Given the description of an element on the screen output the (x, y) to click on. 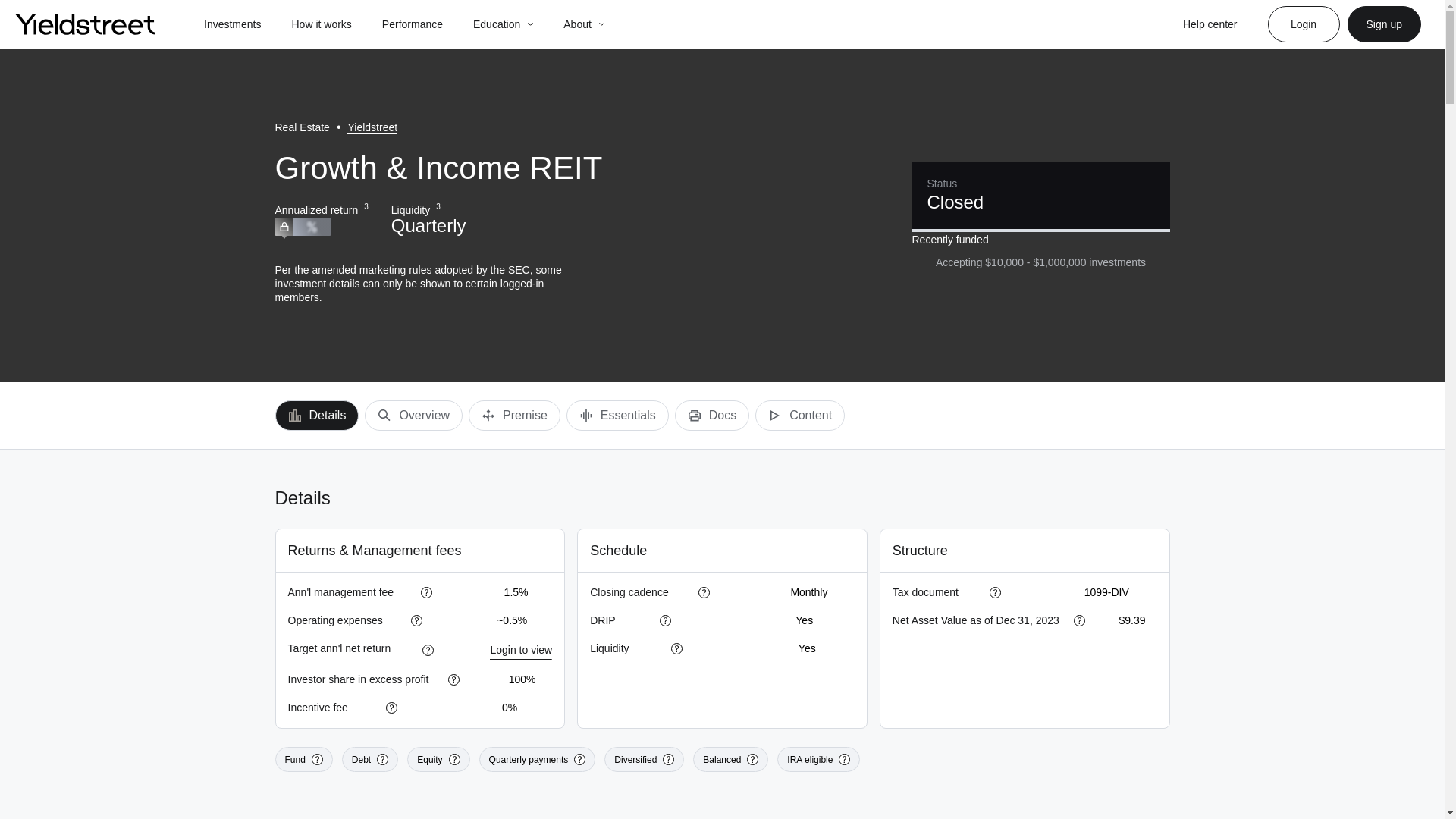
Education (496, 24)
How it works (320, 24)
Performance (411, 24)
Investments (231, 24)
